Given the description of an element on the screen output the (x, y) to click on. 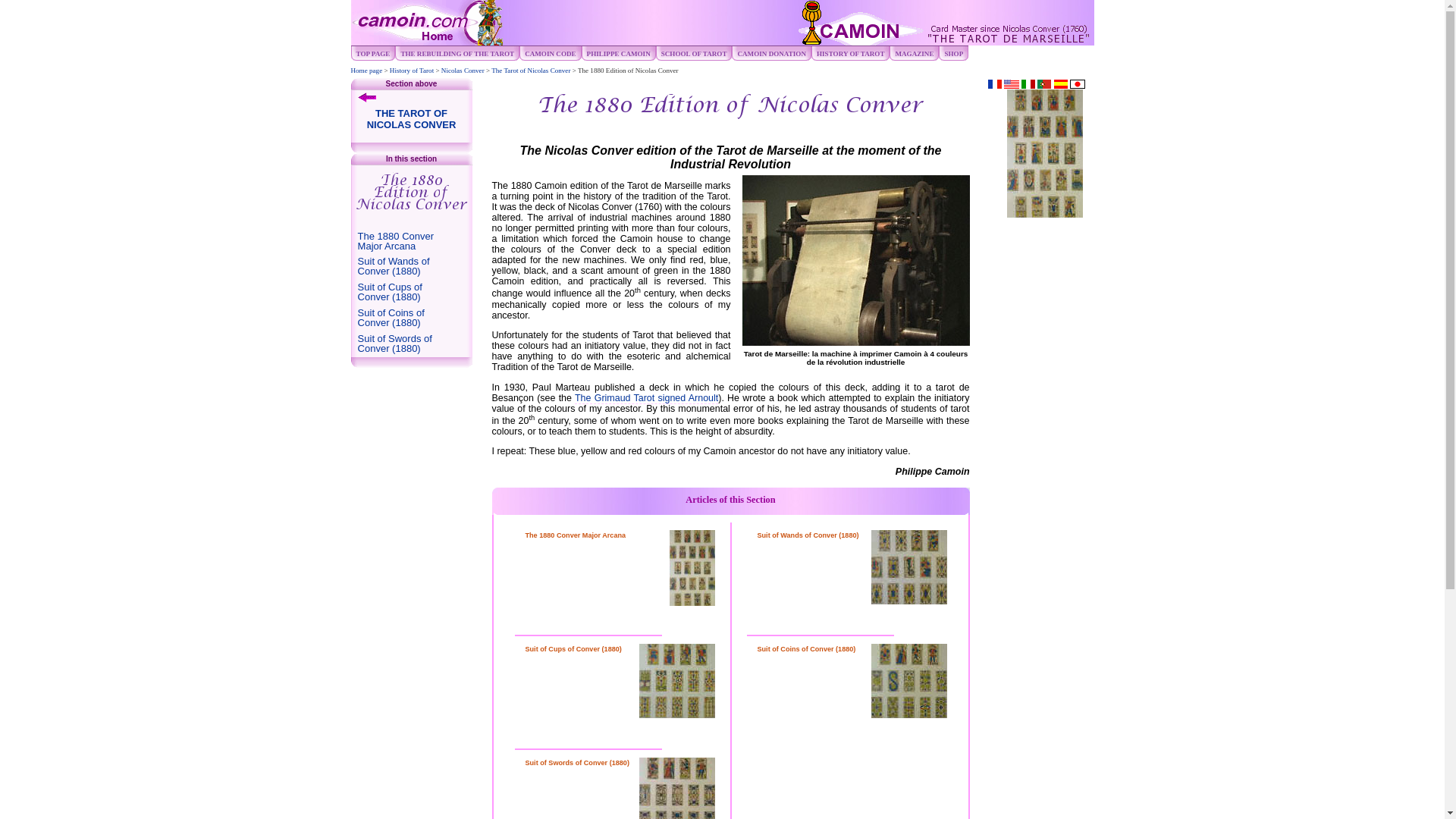
CAMOIN CODE (552, 52)
SCHOOL OF TAROT (696, 52)
TOP PAGE (376, 52)
PHILIPPE CAMOIN (621, 52)
THE REBUILDING OF THE TAROT (459, 52)
